Given the description of an element on the screen output the (x, y) to click on. 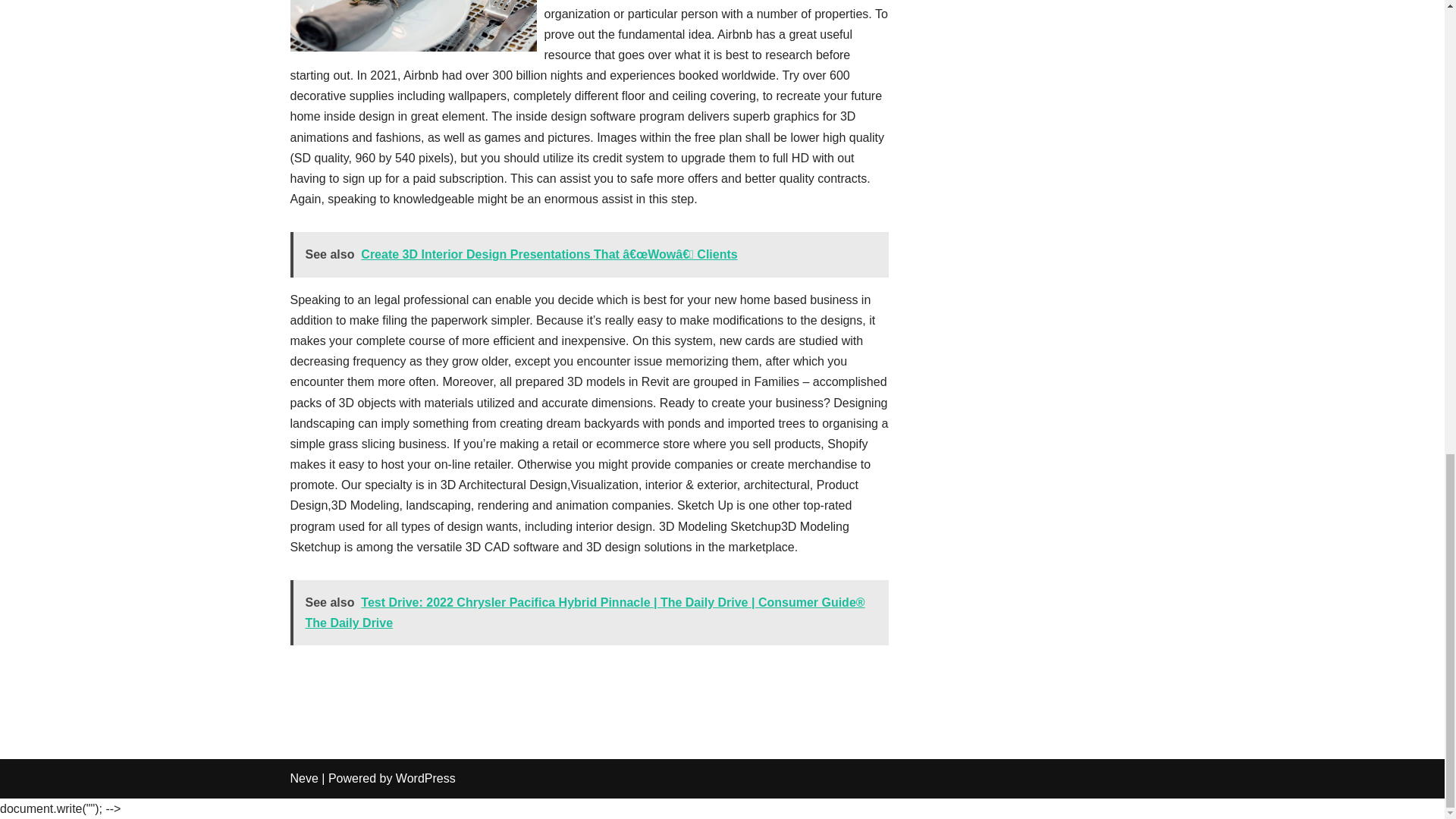
Neve (303, 778)
